Given the description of an element on the screen output the (x, y) to click on. 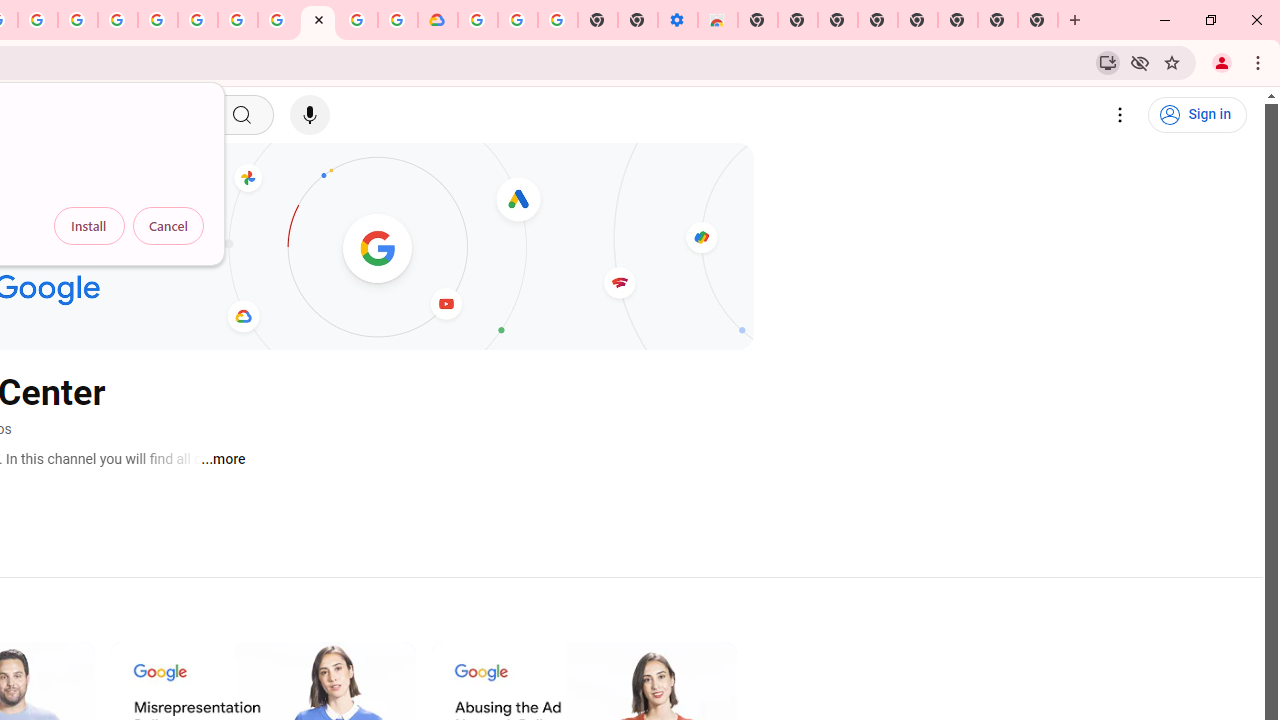
Google Account Help (237, 20)
Settings - Accessibility (677, 20)
